Given the description of an element on the screen output the (x, y) to click on. 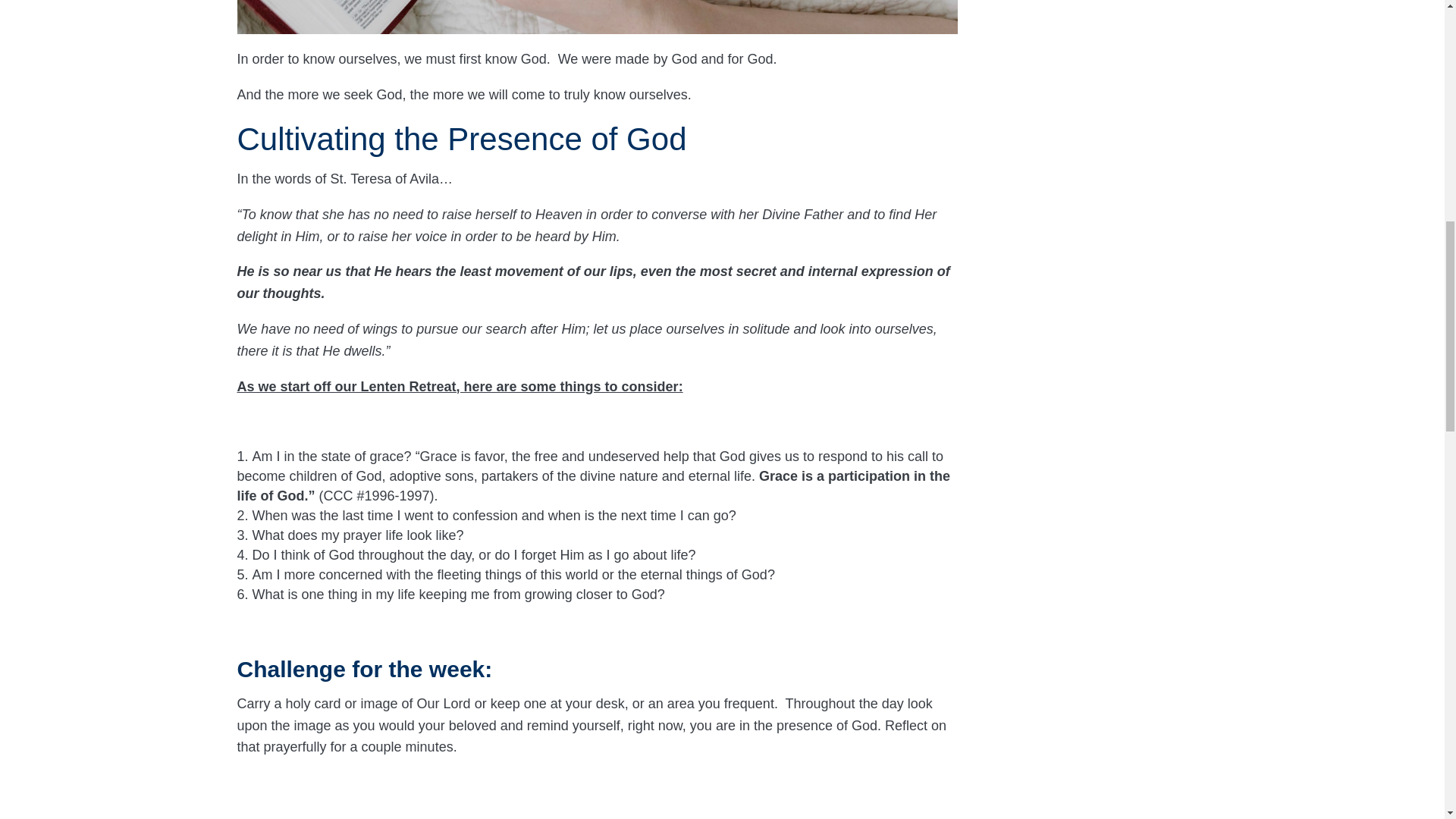
Lent Retreat week 1 (595, 17)
